Given the description of an element on the screen output the (x, y) to click on. 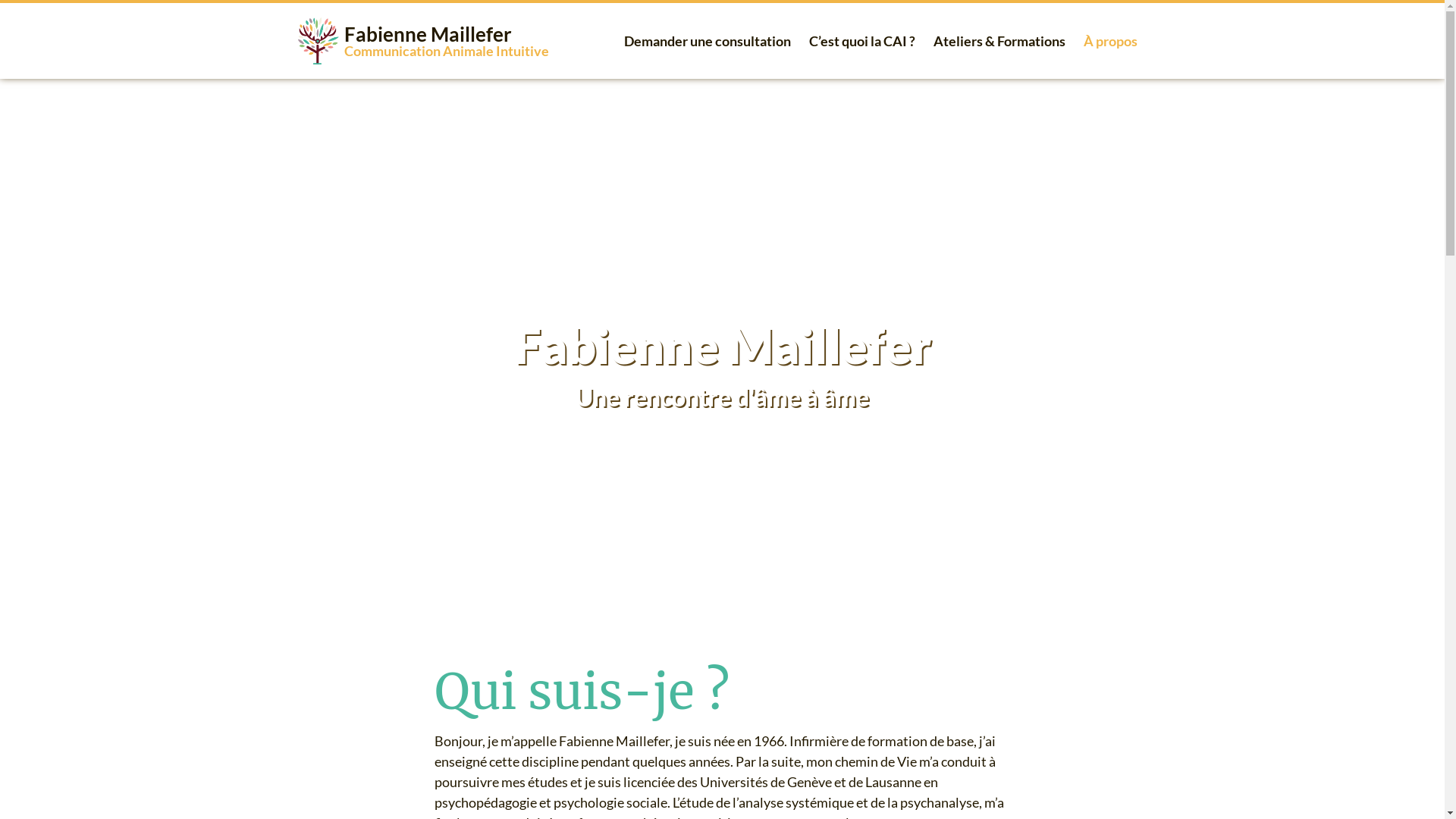
Ateliers & Formations Element type: text (999, 40)
Fabienne Maillefer Element type: text (427, 33)
Demander une consultation Element type: text (707, 40)
